Given the description of an element on the screen output the (x, y) to click on. 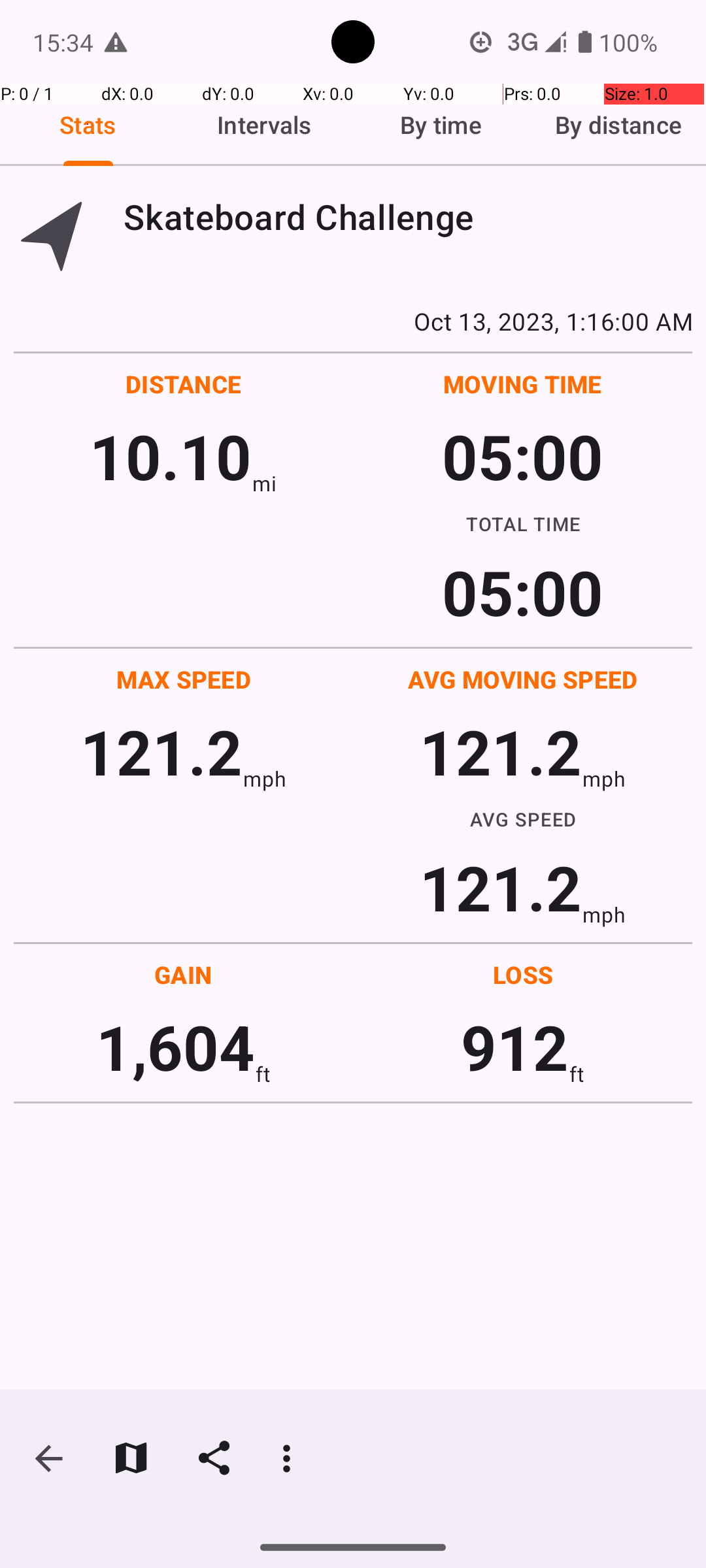
Skateboard Challenge Element type: android.widget.TextView (407, 216)
Oct 13, 2023, 1:16:00 AM Element type: android.widget.TextView (352, 320)
10.10 Element type: android.widget.TextView (170, 455)
05:00 Element type: android.widget.TextView (522, 455)
121.2 Element type: android.widget.TextView (161, 750)
1,604 Element type: android.widget.TextView (175, 1045)
912 Element type: android.widget.TextView (514, 1045)
